Given the description of an element on the screen output the (x, y) to click on. 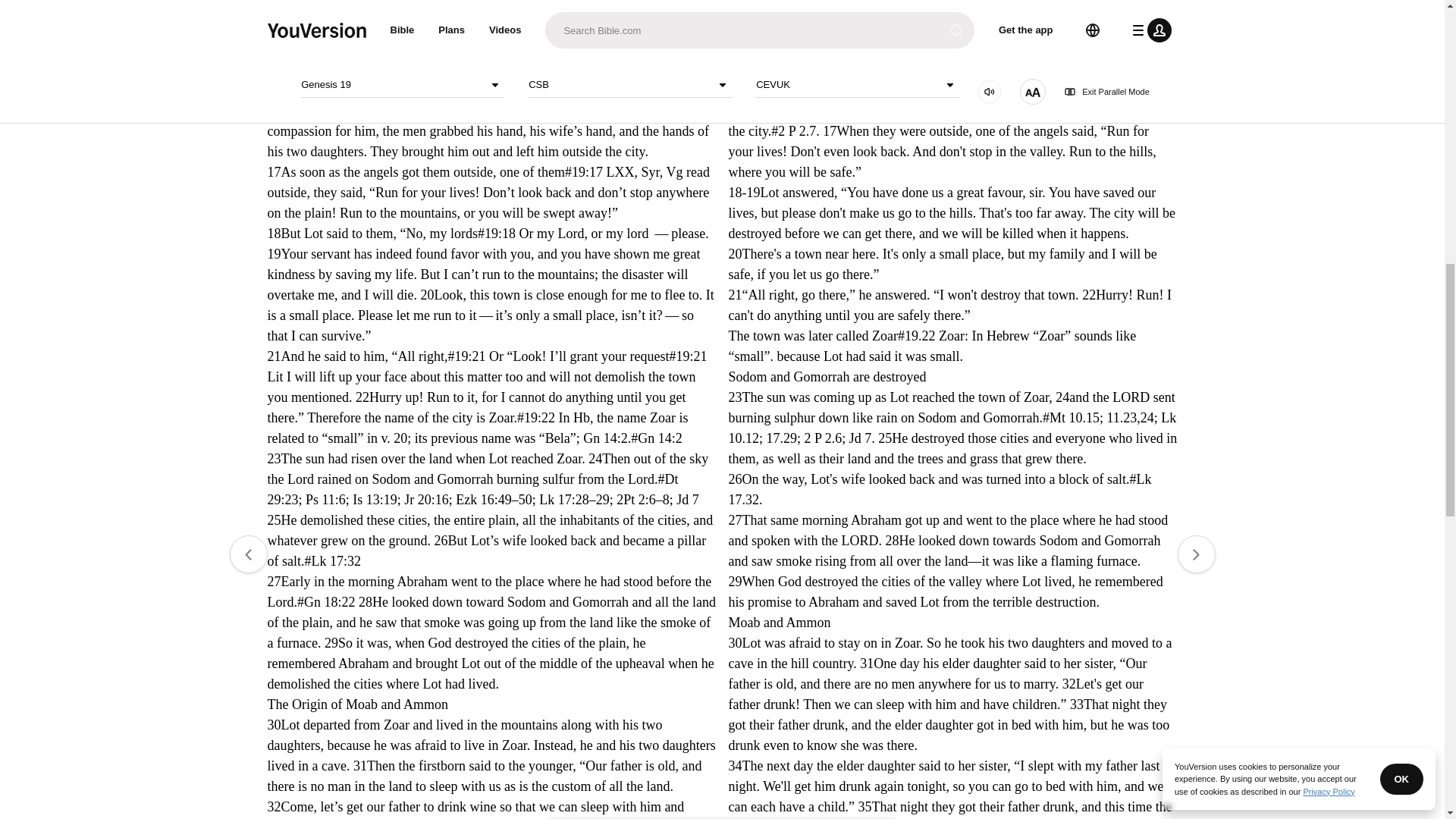
: (599, 37)
Sign up or sign in (737, 225)
Genesis 19: CSB (614, 37)
